Given the description of an element on the screen output the (x, y) to click on. 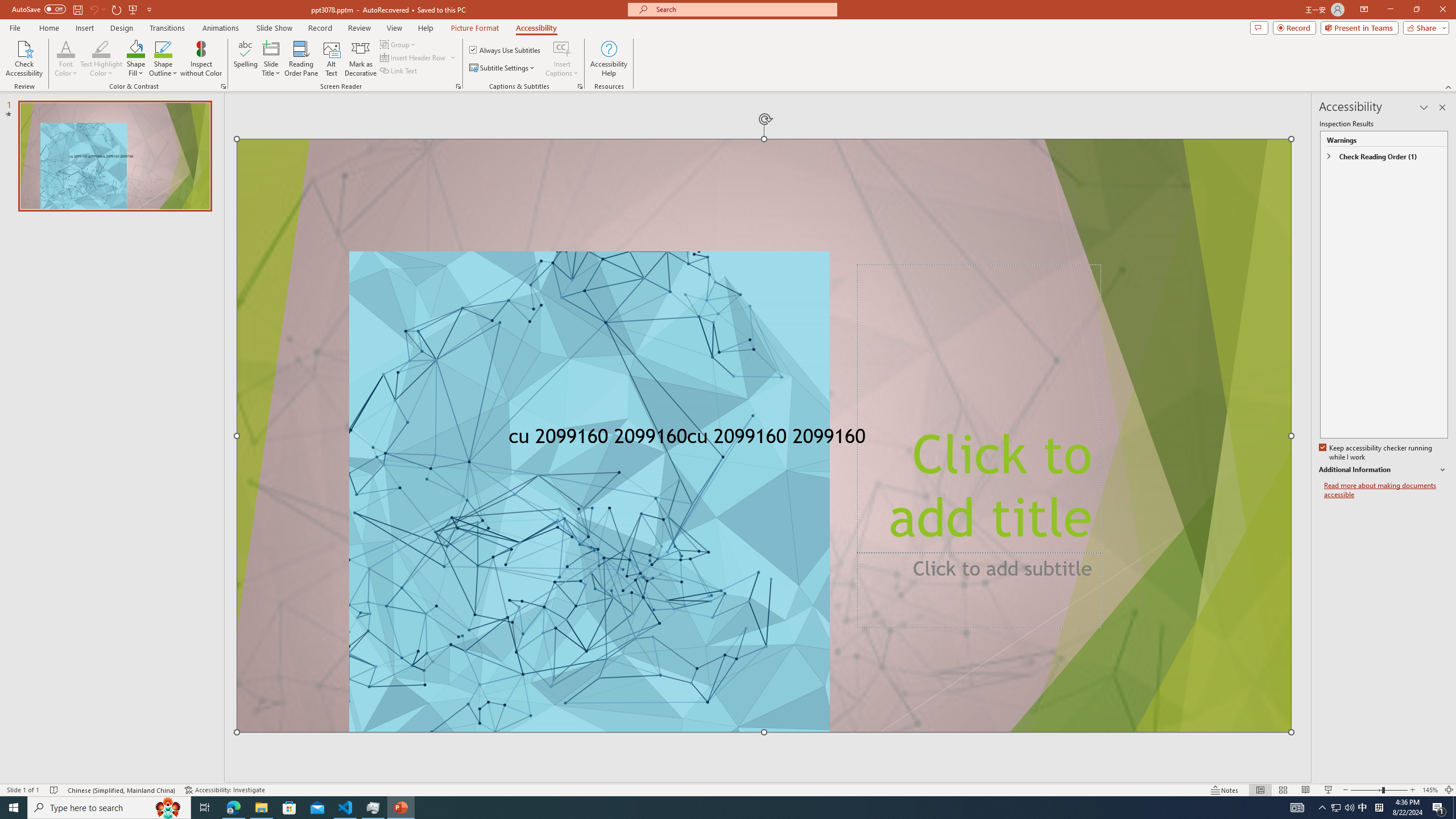
Keep accessibility checker running while I work (1376, 452)
Alt Text (331, 58)
Shape Outline Green, Accent 1 (163, 48)
Mark as Decorative (360, 58)
Subtitle Settings (502, 67)
Slide Title (271, 58)
Link Text (399, 69)
